Given the description of an element on the screen output the (x, y) to click on. 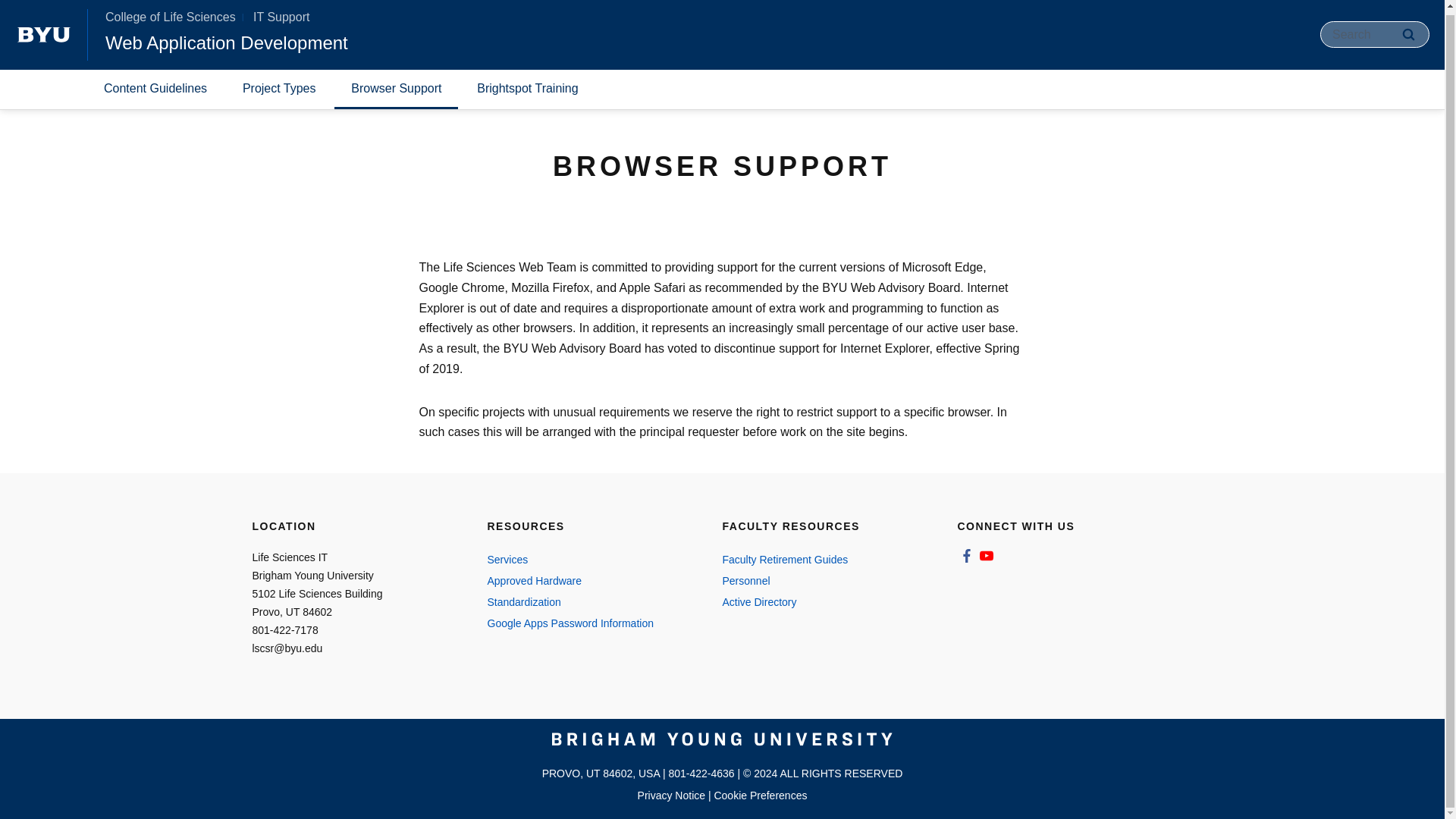
Content Guidelines (155, 85)
IT Support (280, 12)
Project Types (279, 85)
Web Application Development (225, 38)
Link to facebook (965, 555)
Active Directory (824, 601)
Browser Support (396, 85)
Privacy Notice (670, 795)
Standardization (588, 601)
Google Apps Password Information (588, 622)
